Given the description of an element on the screen output the (x, y) to click on. 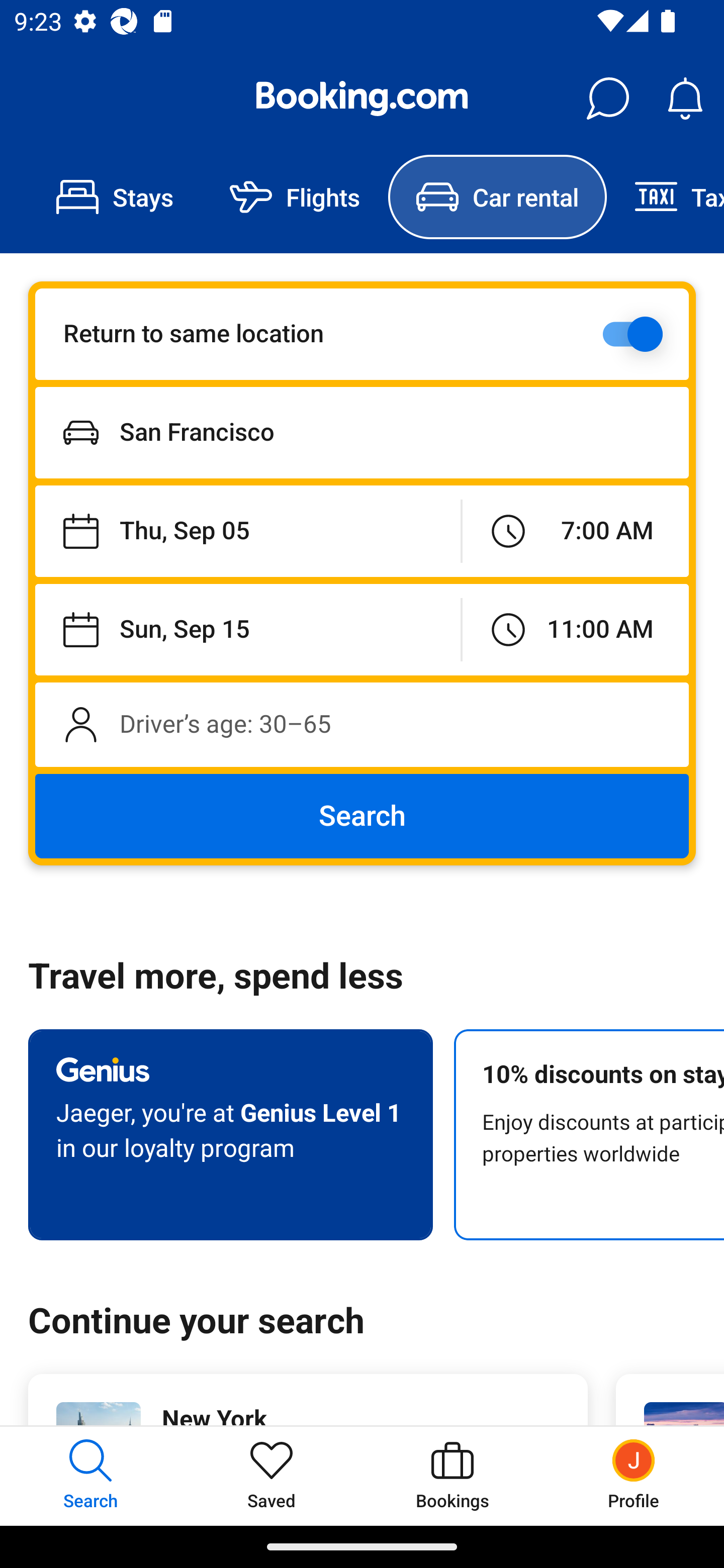
Messages (607, 98)
Notifications (685, 98)
Stays (114, 197)
Flights (294, 197)
Car rental (497, 197)
Taxi (665, 197)
Pick-up location: Text(name=San Francisco) (361, 432)
Pick-up date: 2024-09-05 (247, 531)
Pick-up time: 07:00:00.000 (575, 531)
Drop-off date: 2024-09-15 (247, 629)
Drop-off time: 11:00:00.000 (575, 629)
Enter the driver's age (361, 724)
Search (361, 815)
Saved (271, 1475)
Bookings (452, 1475)
Profile (633, 1475)
